Given the description of an element on the screen output the (x, y) to click on. 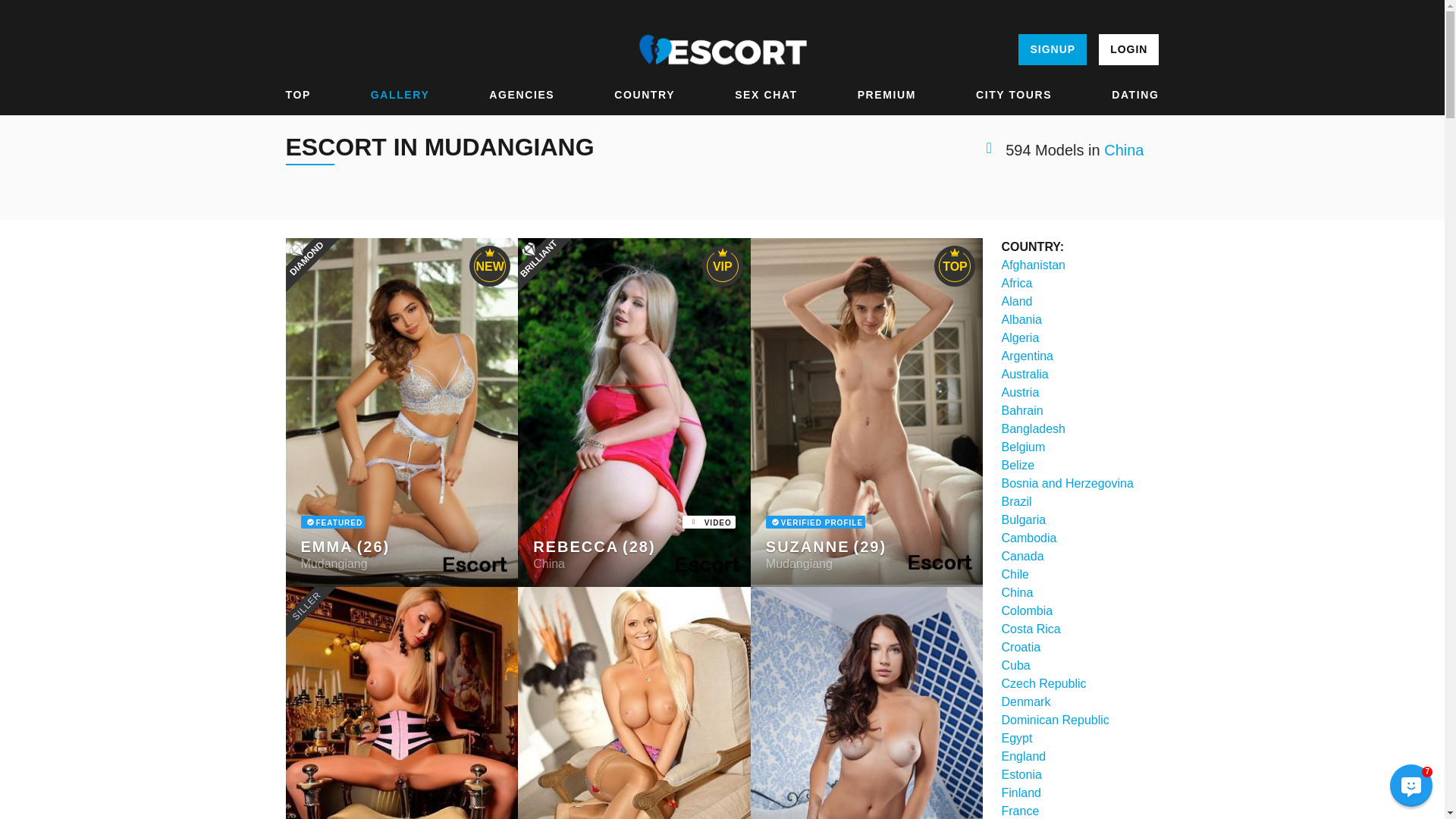
CITY TOURS (1013, 94)
COUNTRY (644, 94)
DATING (1135, 94)
China (1122, 149)
SEX CHAT (766, 94)
SIGNUP (1051, 49)
GALLERY (400, 94)
PREMIUM (886, 94)
AGENCIES (521, 94)
LOGIN (1128, 49)
TOP (297, 94)
